Given the description of an element on the screen output the (x, y) to click on. 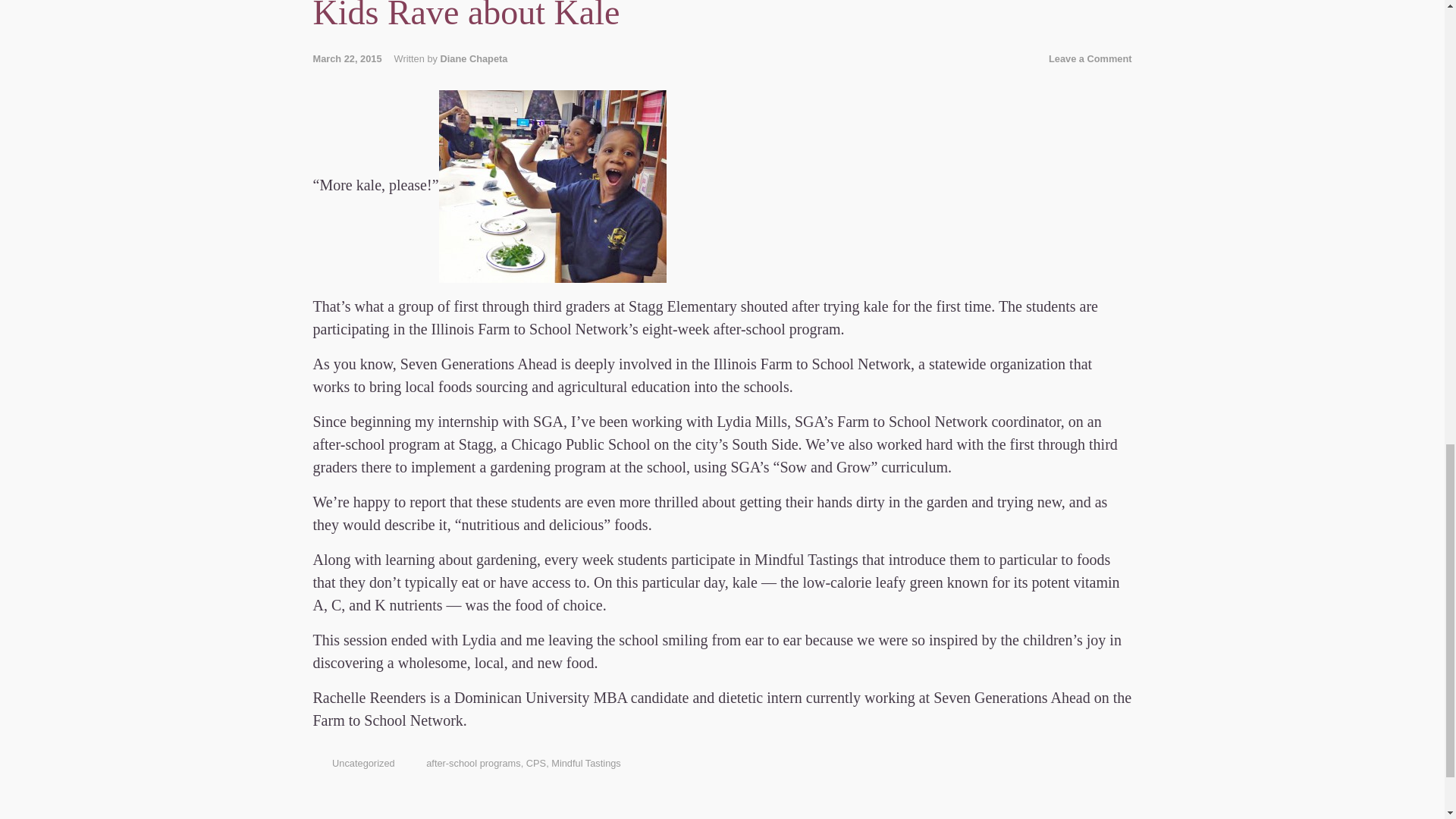
March 22, 2015 (353, 58)
Kids Rave about Kale (466, 15)
Uncategorized (362, 763)
Leave a Comment (1090, 58)
after-school programs (472, 763)
Diane Chapeta (472, 58)
View all posts by Diane Chapeta (472, 58)
